Given the description of an element on the screen output the (x, y) to click on. 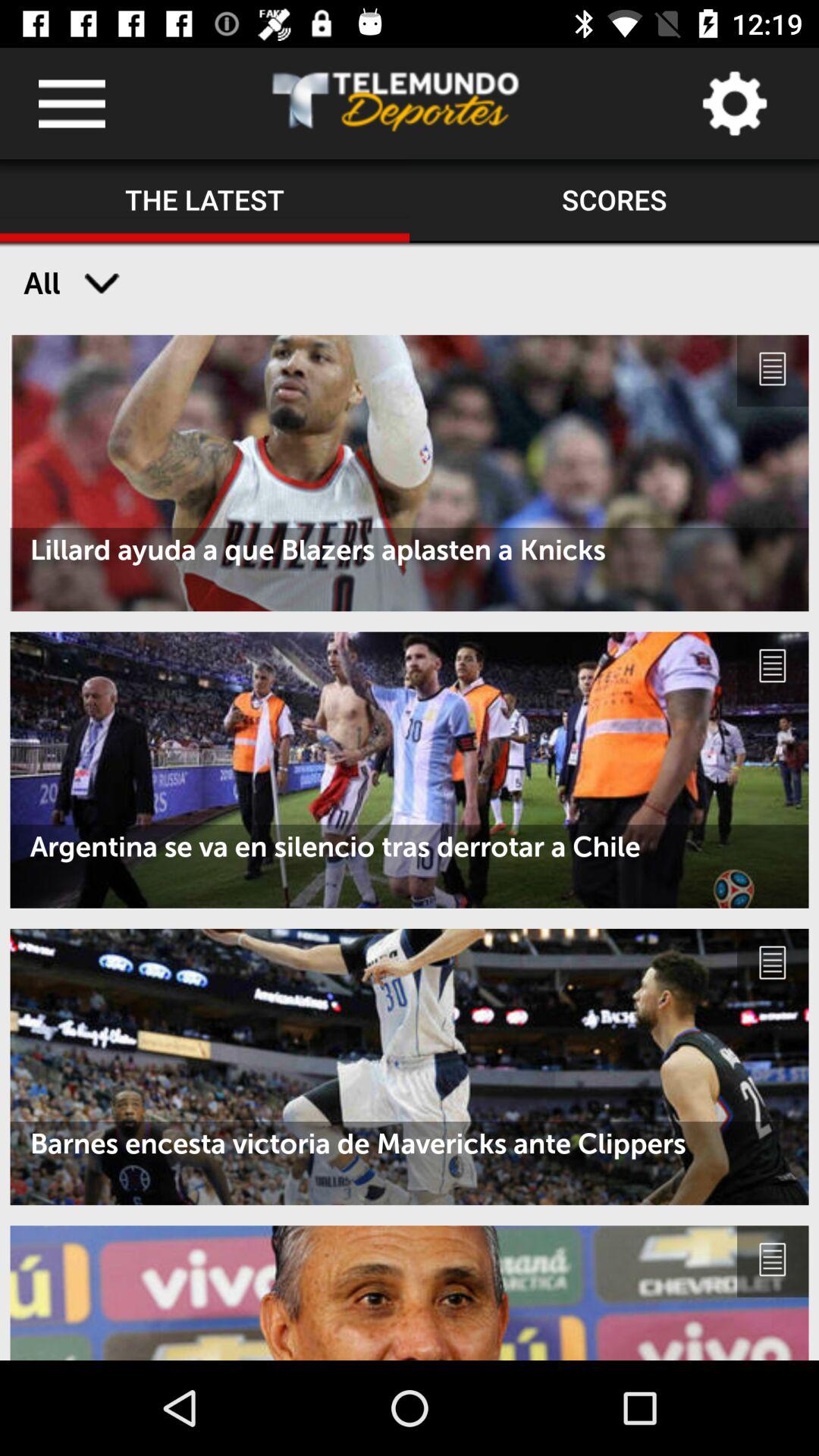
jump to the barnes encesta victoria (409, 1143)
